Given the description of an element on the screen output the (x, y) to click on. 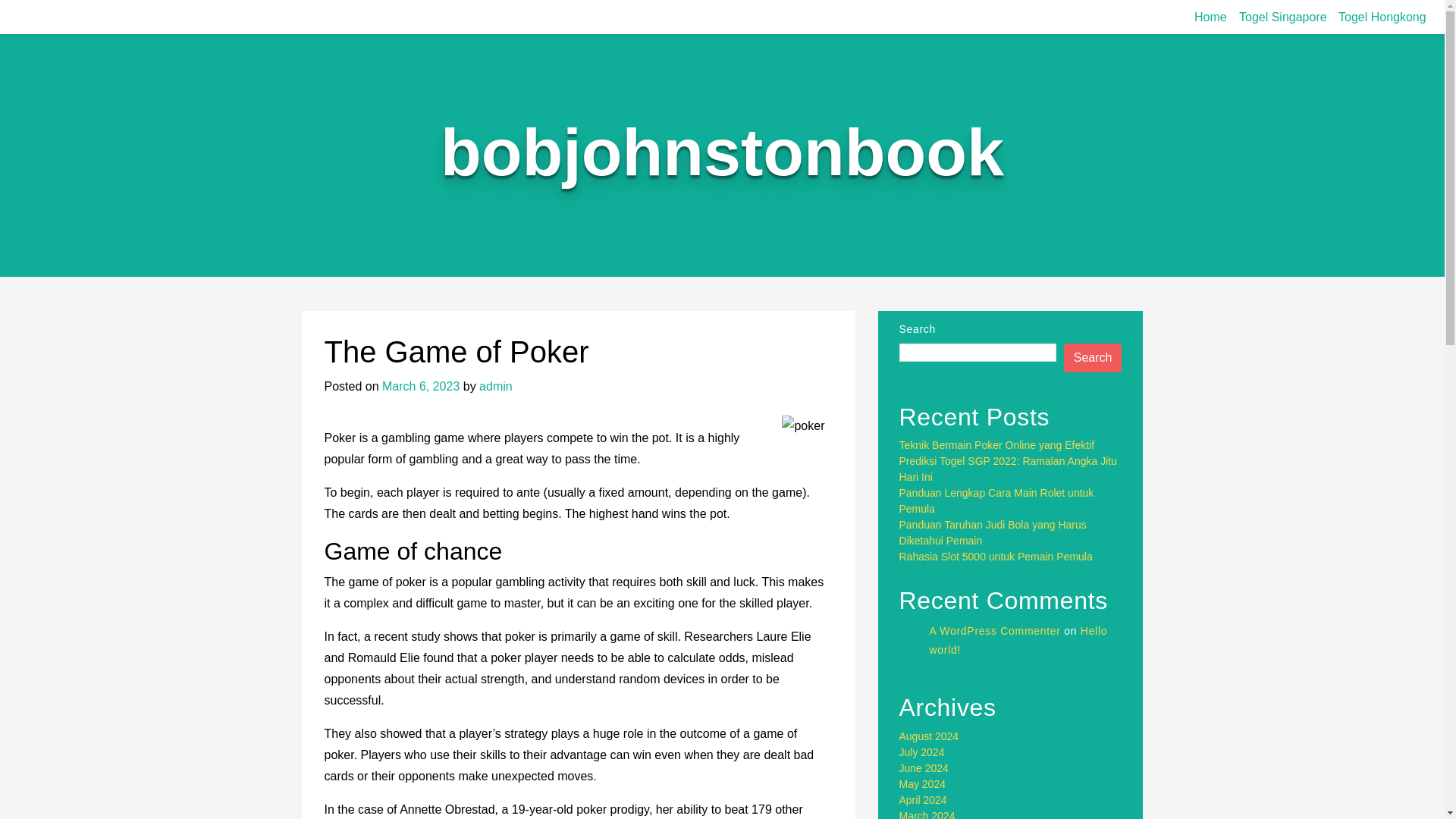
Togel Hongkong (1382, 16)
Togel Hongkong (1382, 16)
July 2024 (921, 752)
admin (495, 386)
Home (1210, 16)
March 2024 (927, 814)
A WordPress Commenter (995, 630)
April 2024 (923, 799)
Togel Singapore (1283, 16)
Prediksi Togel SGP 2022: Ramalan Angka Jitu Hari Ini (1007, 469)
